Given the description of an element on the screen output the (x, y) to click on. 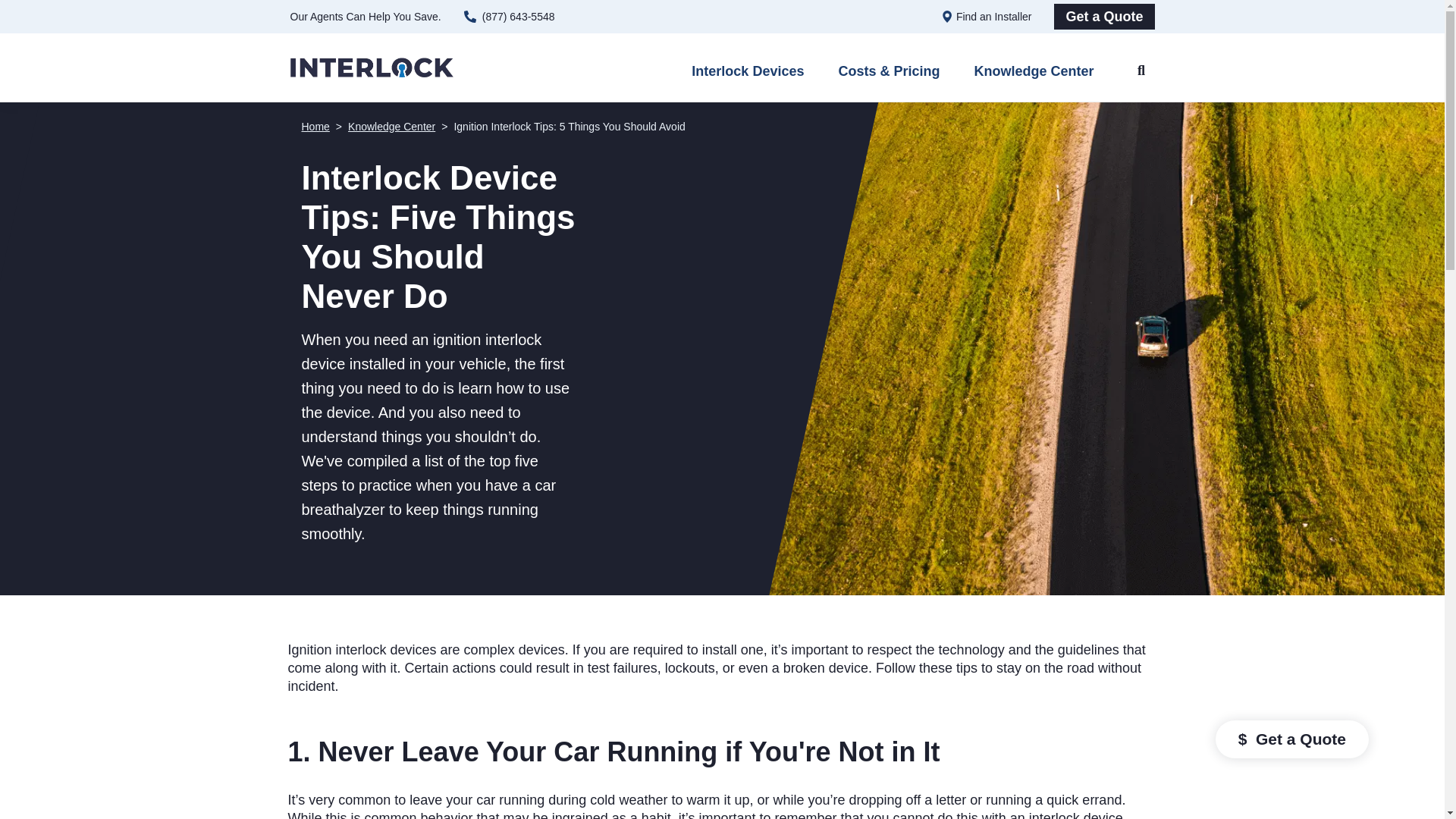
Interlock Devices (747, 74)
Home (315, 126)
Knowledge Center (1033, 74)
Knowledge Center (391, 126)
Get a Quote (1104, 16)
Find an Installer (994, 16)
